Given the description of an element on the screen output the (x, y) to click on. 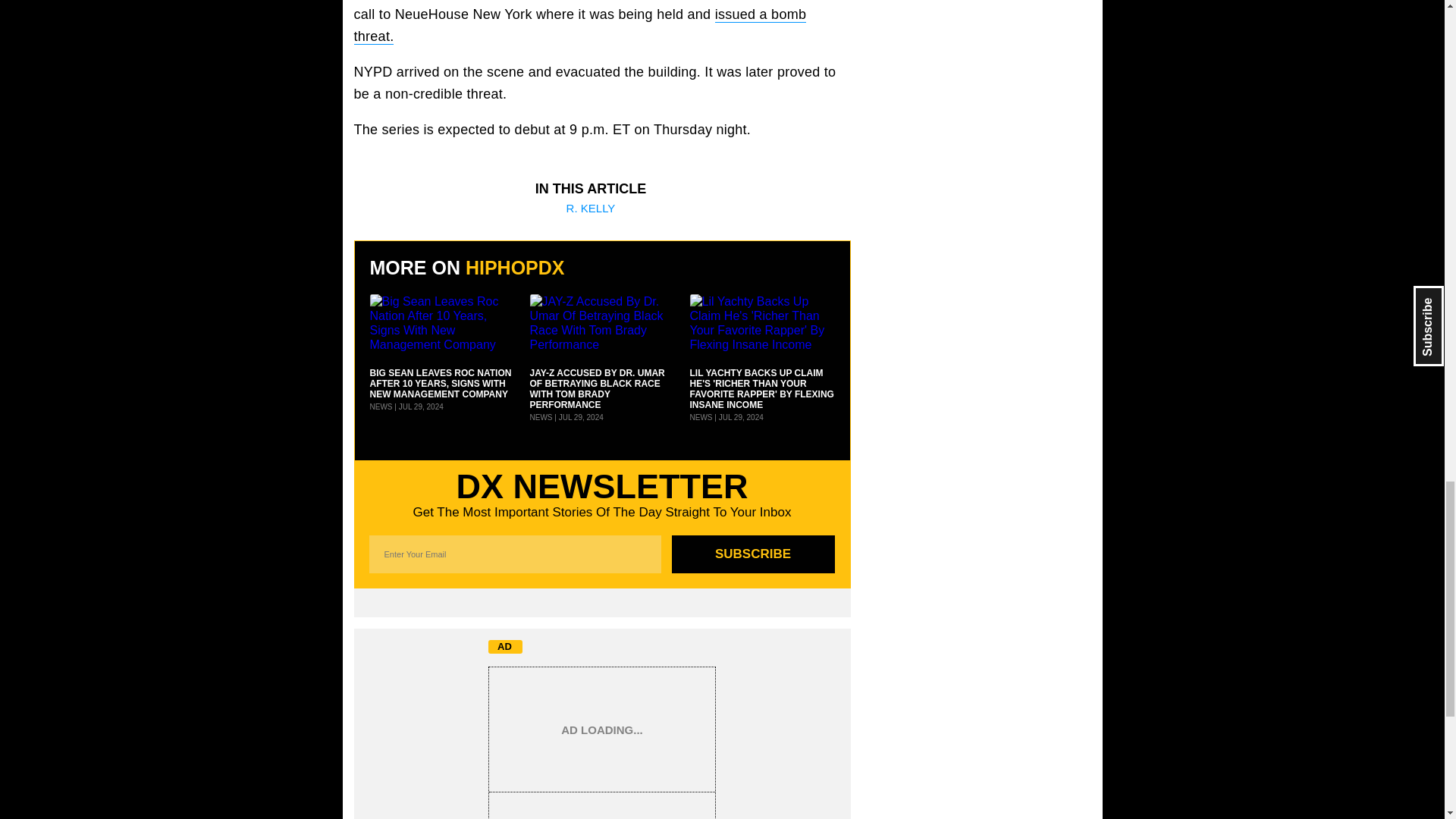
R. KELLY (590, 207)
issued a bomb threat. (579, 25)
